Given the description of an element on the screen output the (x, y) to click on. 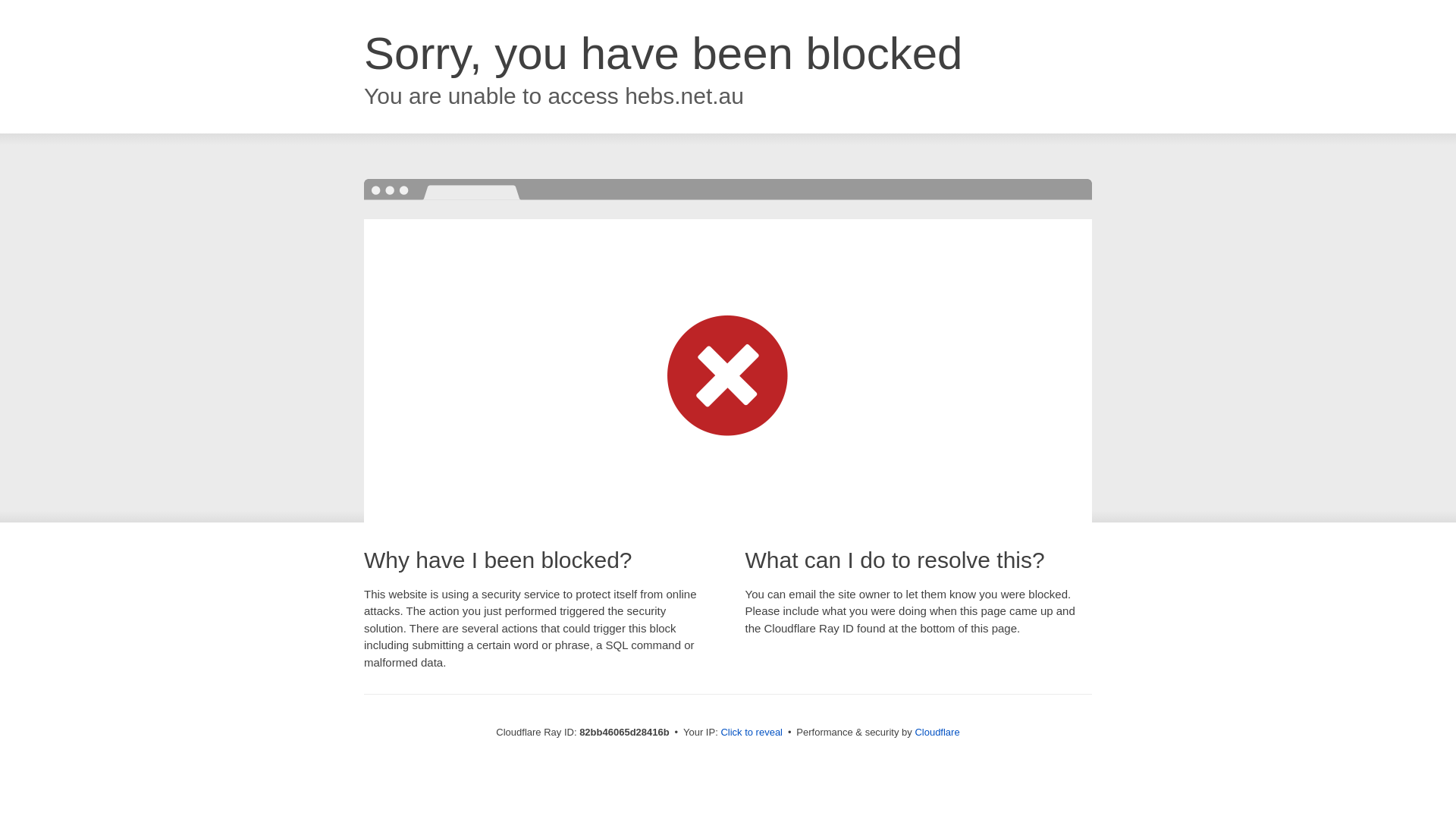
Cloudflare Element type: text (936, 731)
Click to reveal Element type: text (751, 732)
